Given the description of an element on the screen output the (x, y) to click on. 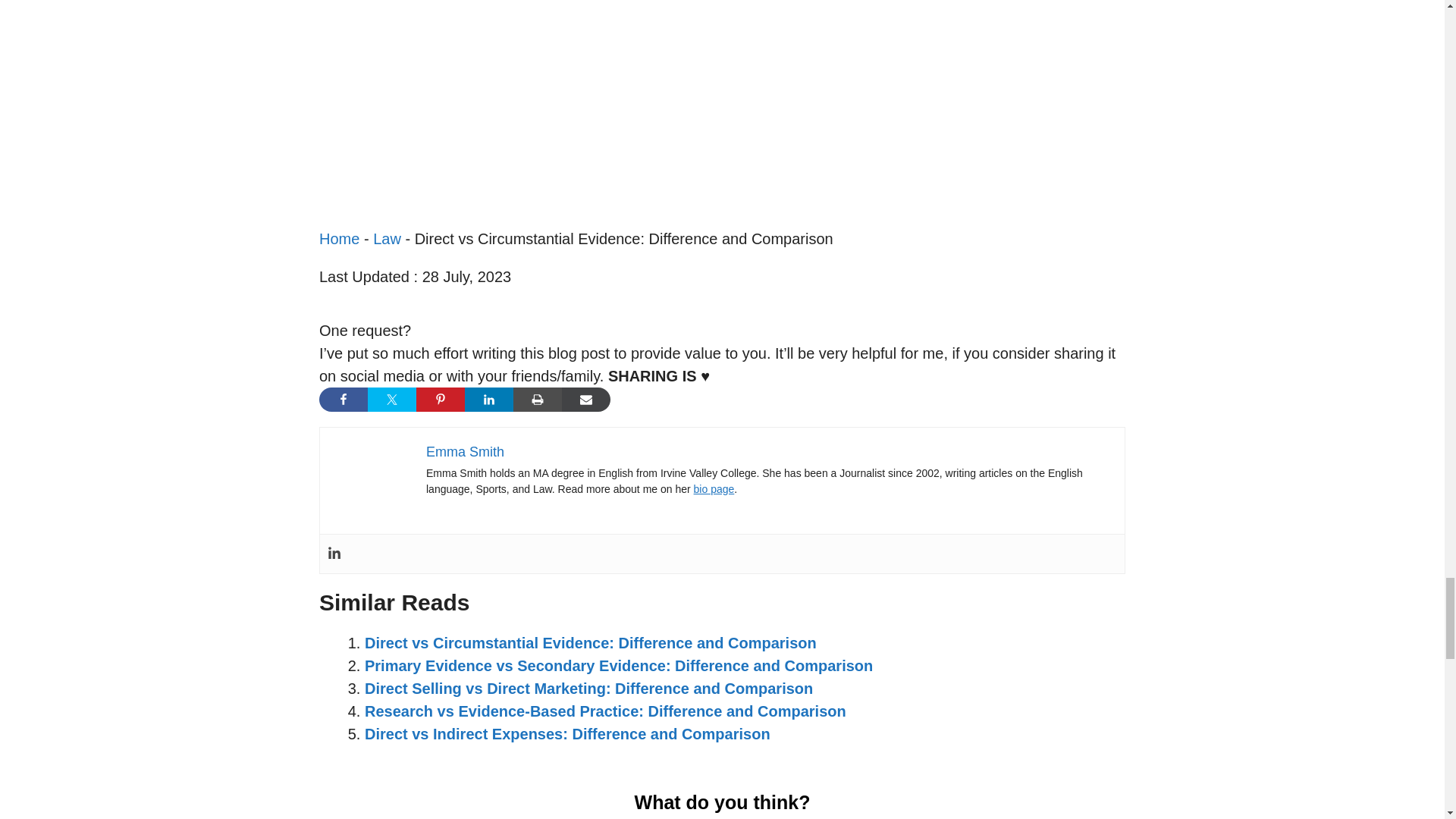
Share on Facebook (343, 399)
Direct vs Circumstantial Evidence: Difference and Comparison (590, 642)
Share on Twitter (392, 399)
Print this Page (537, 399)
Share on LinkedIn (488, 399)
Share on Pinterest (440, 399)
Share via Email (586, 399)
